Given the description of an element on the screen output the (x, y) to click on. 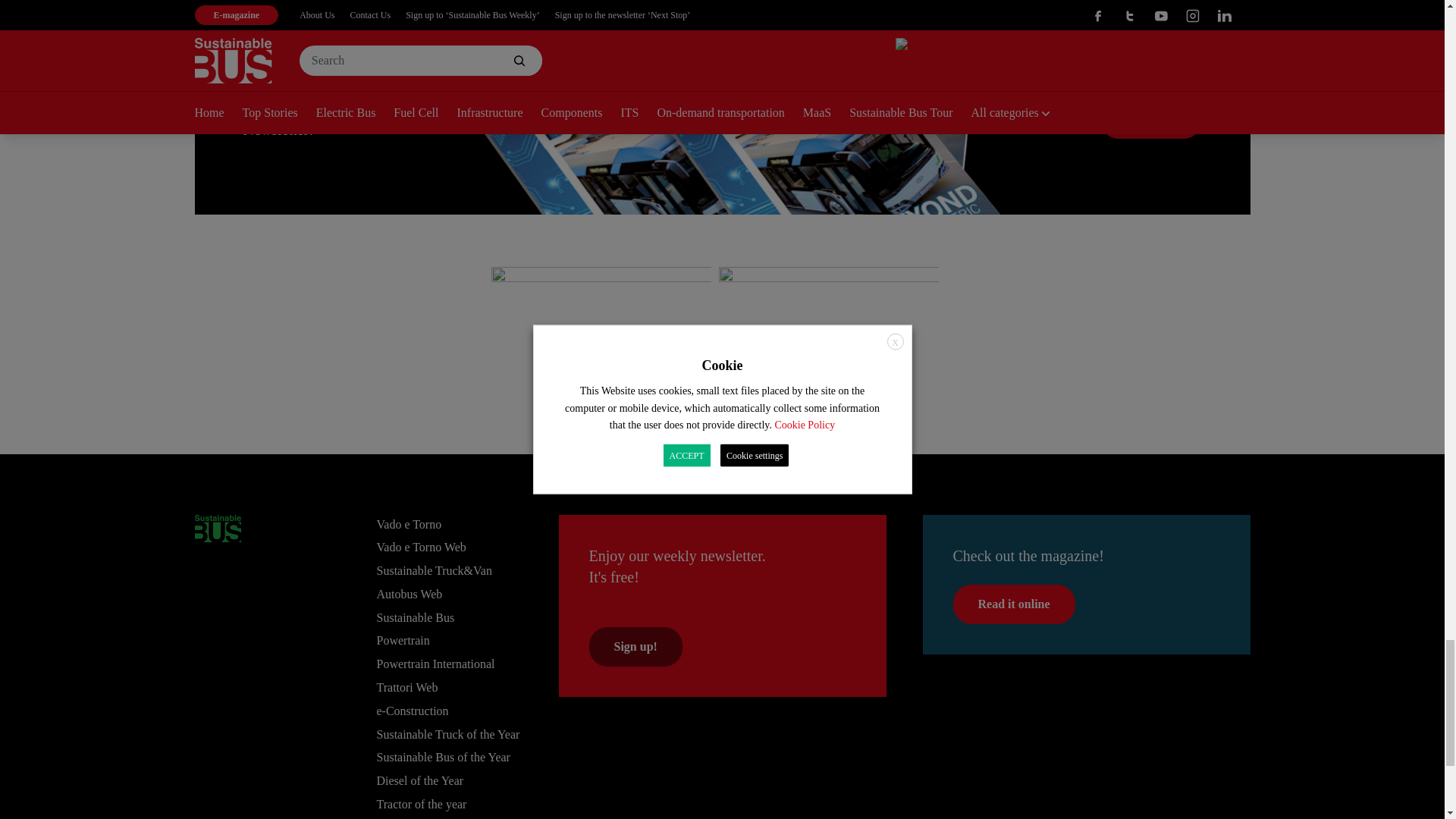
Sustainable Bus (216, 527)
